Given the description of an element on the screen output the (x, y) to click on. 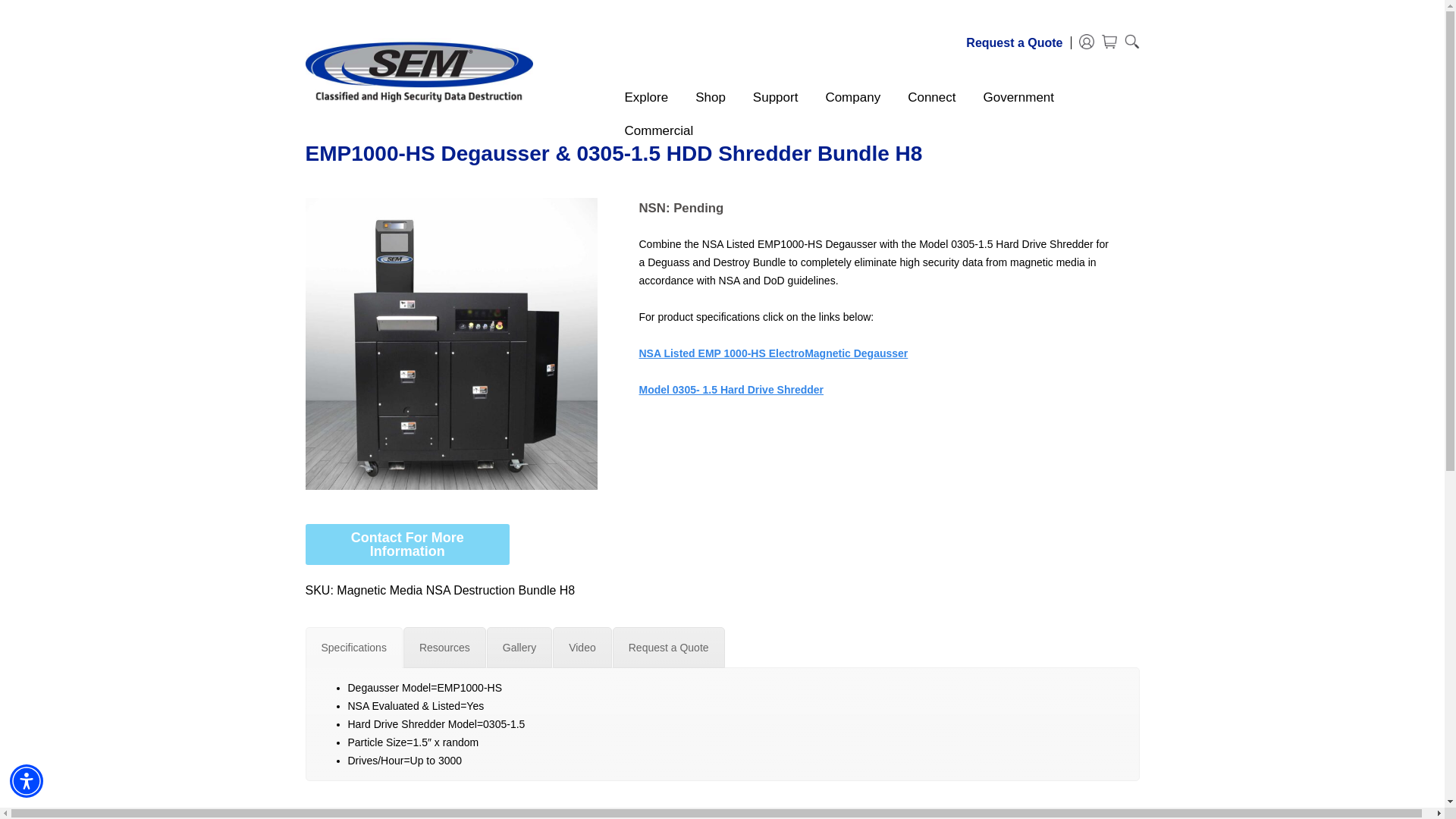
SEM Shred (418, 71)
Explore (632, 97)
h8-dd-emp1000-and-0305-jpg (450, 343)
Request a Quote (1014, 42)
Accessibility Menu (26, 780)
SEM Shred (418, 71)
Shop (696, 97)
